Given the description of an element on the screen output the (x, y) to click on. 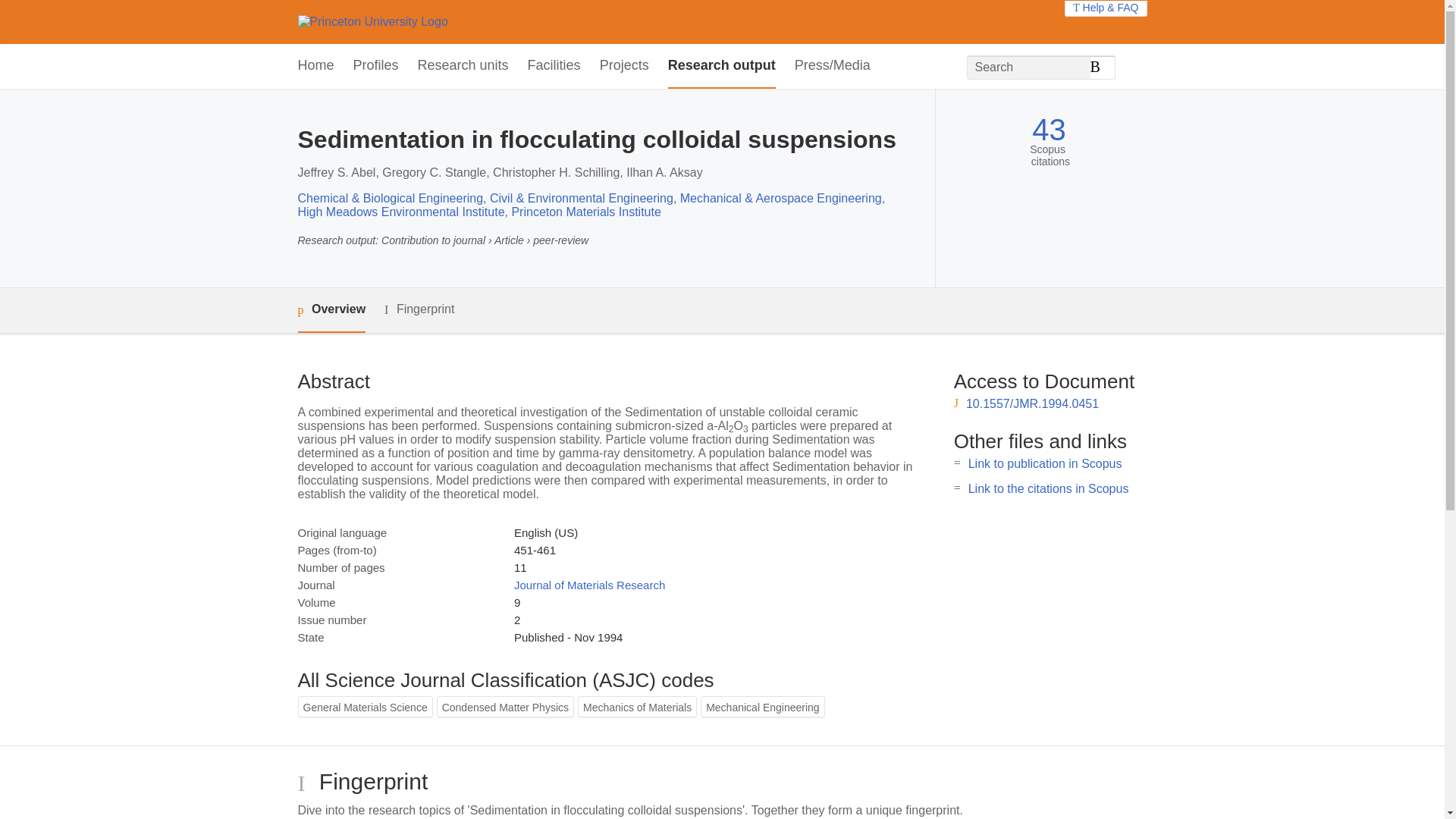
Princeton University Home (371, 21)
Link to the citations in Scopus (1048, 488)
Profiles (375, 66)
Fingerprint (419, 309)
Link to publication in Scopus (1045, 463)
43 (1048, 130)
Overview (331, 310)
High Meadows Environmental Institute (400, 211)
Facilities (553, 66)
